Given the description of an element on the screen output the (x, y) to click on. 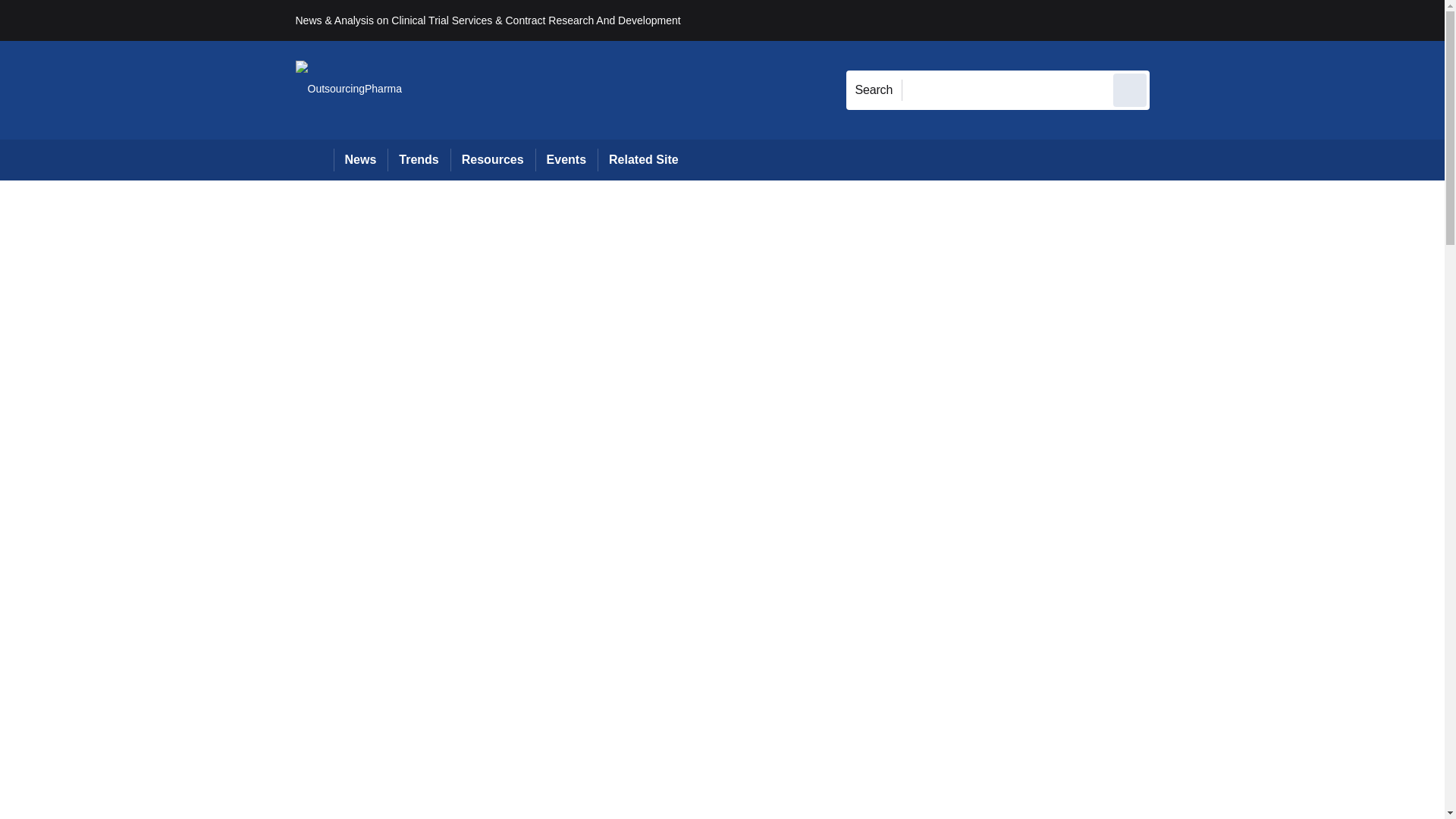
Send (1129, 90)
Home (314, 159)
Resources (492, 159)
My account (1256, 20)
REGISTER (1250, 20)
Trends (418, 159)
Send (1129, 89)
Sign in (1171, 20)
OutsourcingPharma (349, 89)
News (360, 159)
Sign out (1174, 20)
Home (313, 159)
